Given the description of an element on the screen output the (x, y) to click on. 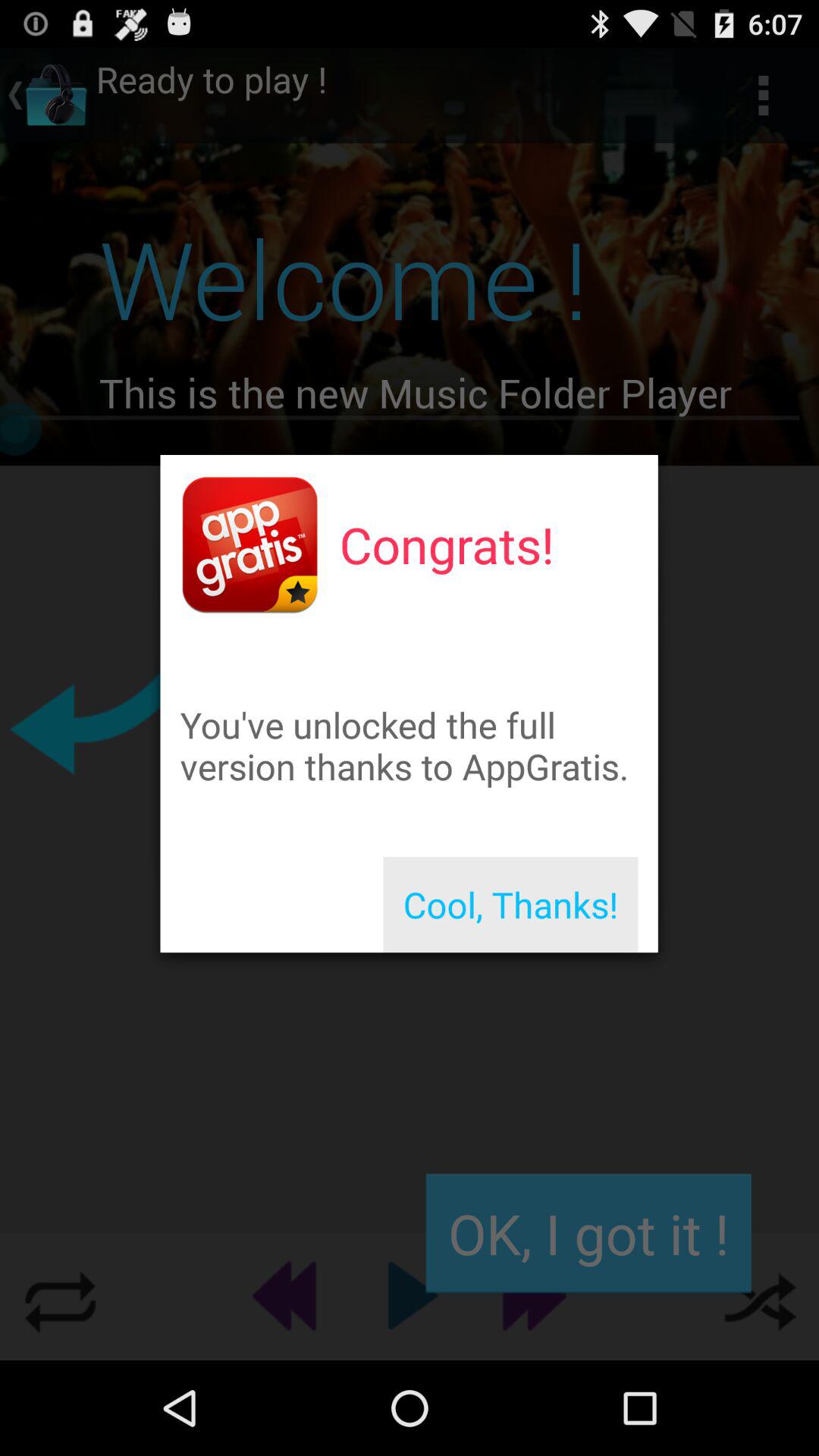
scroll to cool, thanks! item (510, 904)
